Given the description of an element on the screen output the (x, y) to click on. 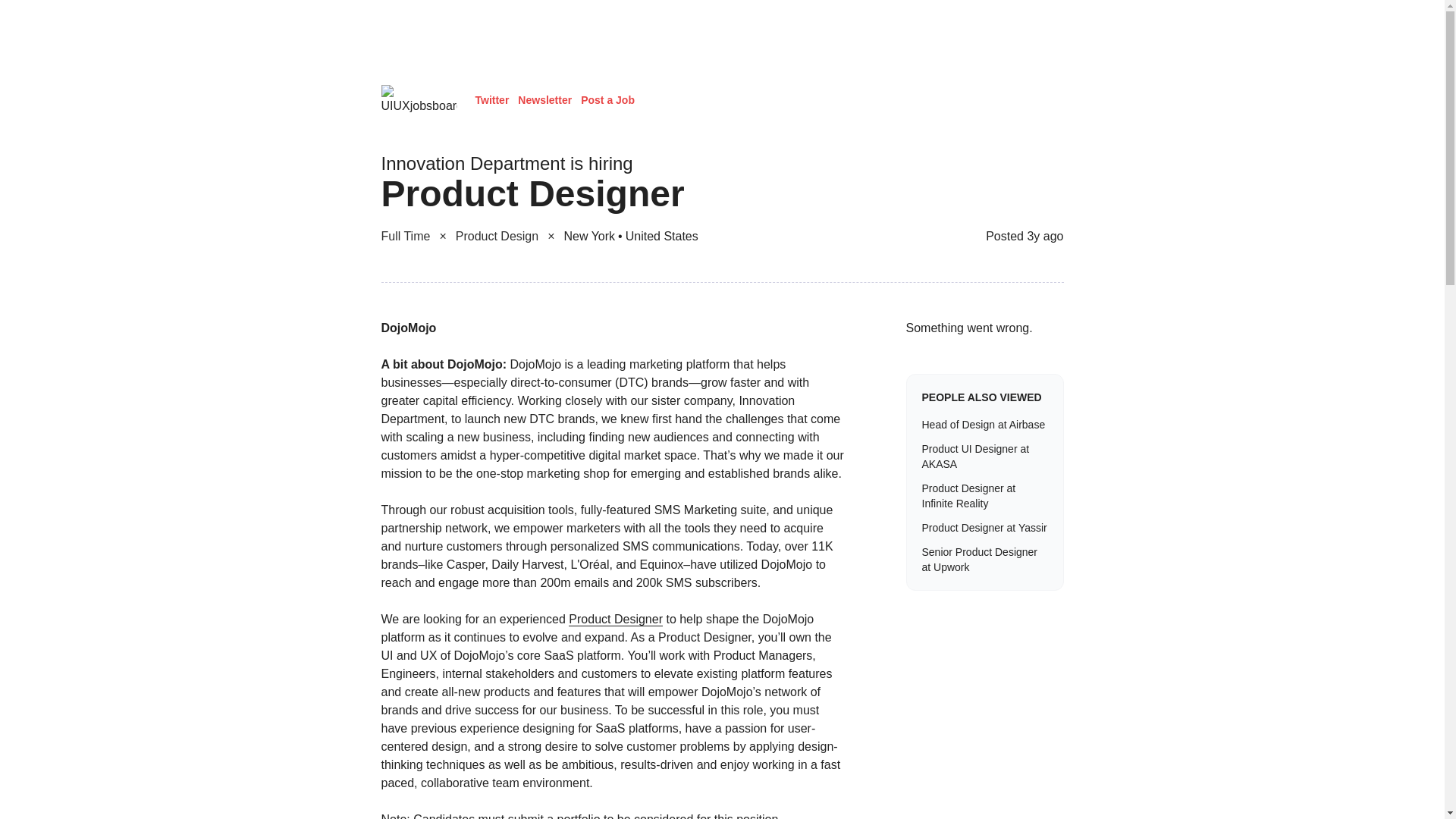
Product UI Designer at AKASA (984, 456)
Newsletter (545, 99)
New York (592, 236)
Post a Job (607, 99)
Product Designer at Yassir (984, 527)
United States (662, 236)
Product Designer at Infinite Reality (984, 495)
Product Designer (615, 619)
Senior Product Designer at Upwork (984, 559)
Twitter (491, 99)
Head of Design at Airbase (984, 424)
